Given the description of an element on the screen output the (x, y) to click on. 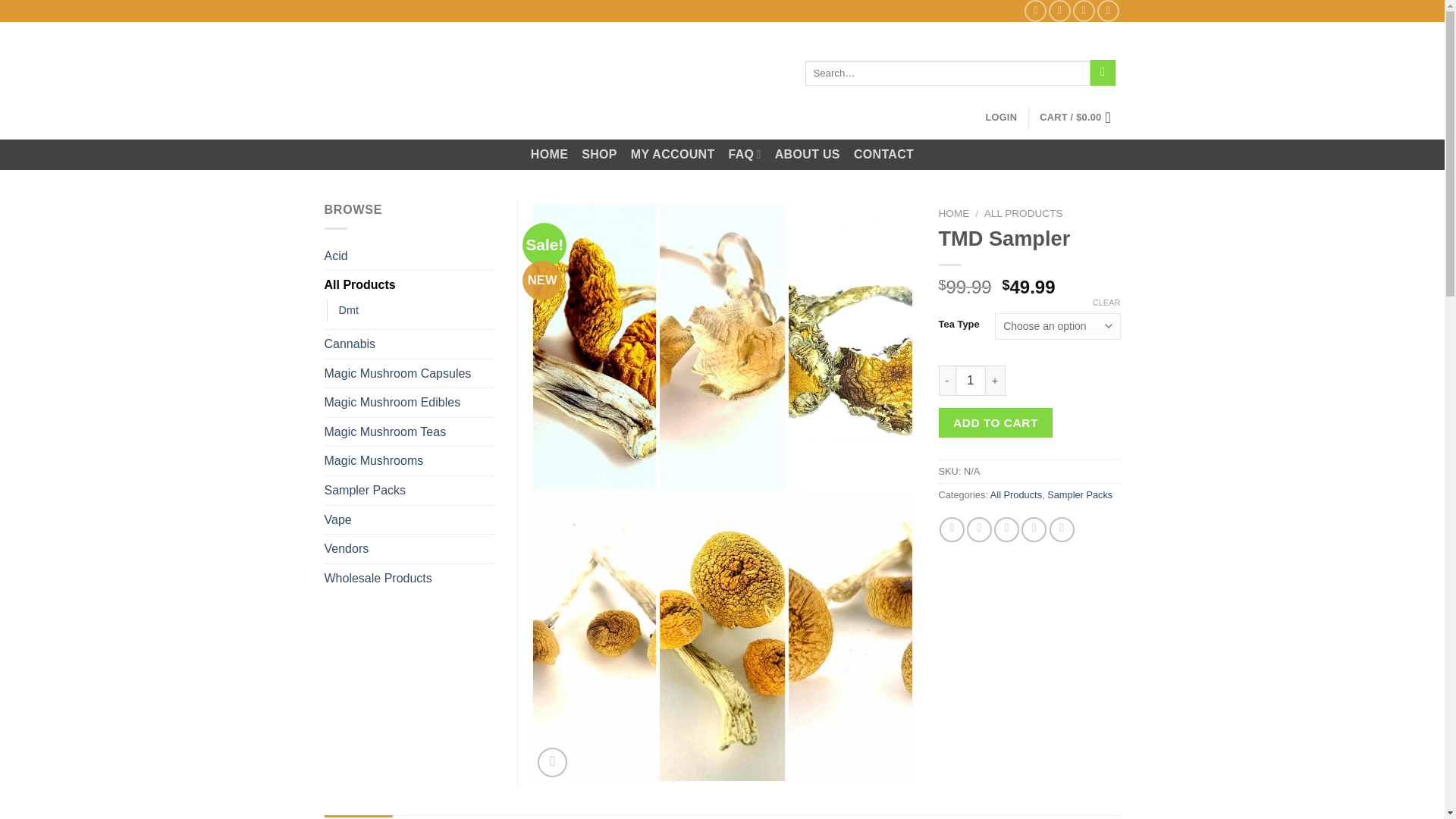
ALL PRODUCTS (1023, 213)
Cart (1079, 117)
MY ACCOUNT (672, 154)
ABOUT US (807, 154)
Search (1102, 72)
HOME (549, 154)
SHOP (598, 154)
Acid (409, 256)
HOME (954, 213)
Sampler Packs (1079, 494)
All Products (1016, 494)
Follow on Facebook (1035, 11)
CLEAR (1107, 302)
The Magic Dispensary - Premium Mushrooms At Great Prices (425, 80)
Follow on Twitter (1083, 11)
